Given the description of an element on the screen output the (x, y) to click on. 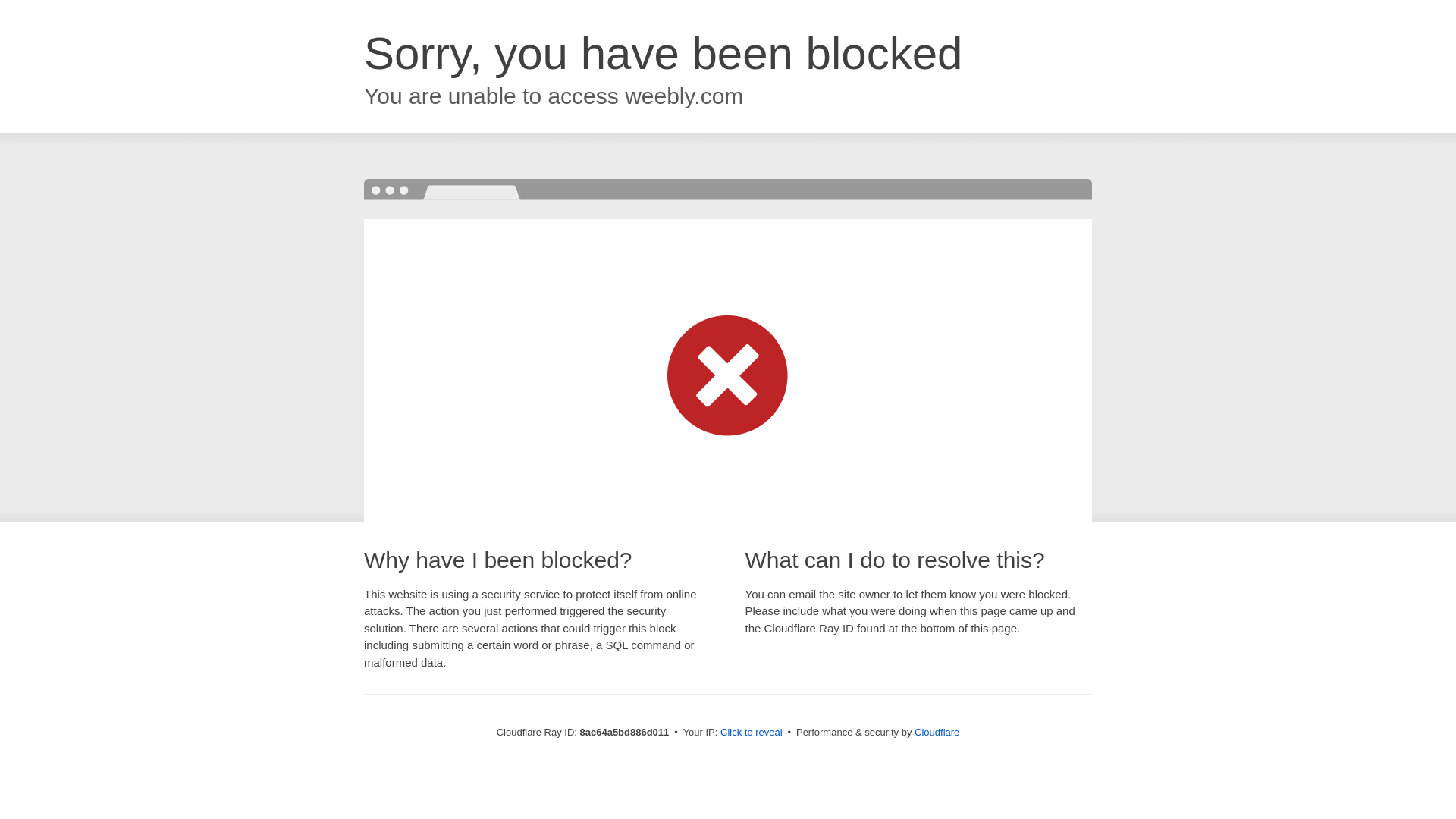
Cloudflare (936, 731)
Click to reveal (751, 732)
